Given the description of an element on the screen output the (x, y) to click on. 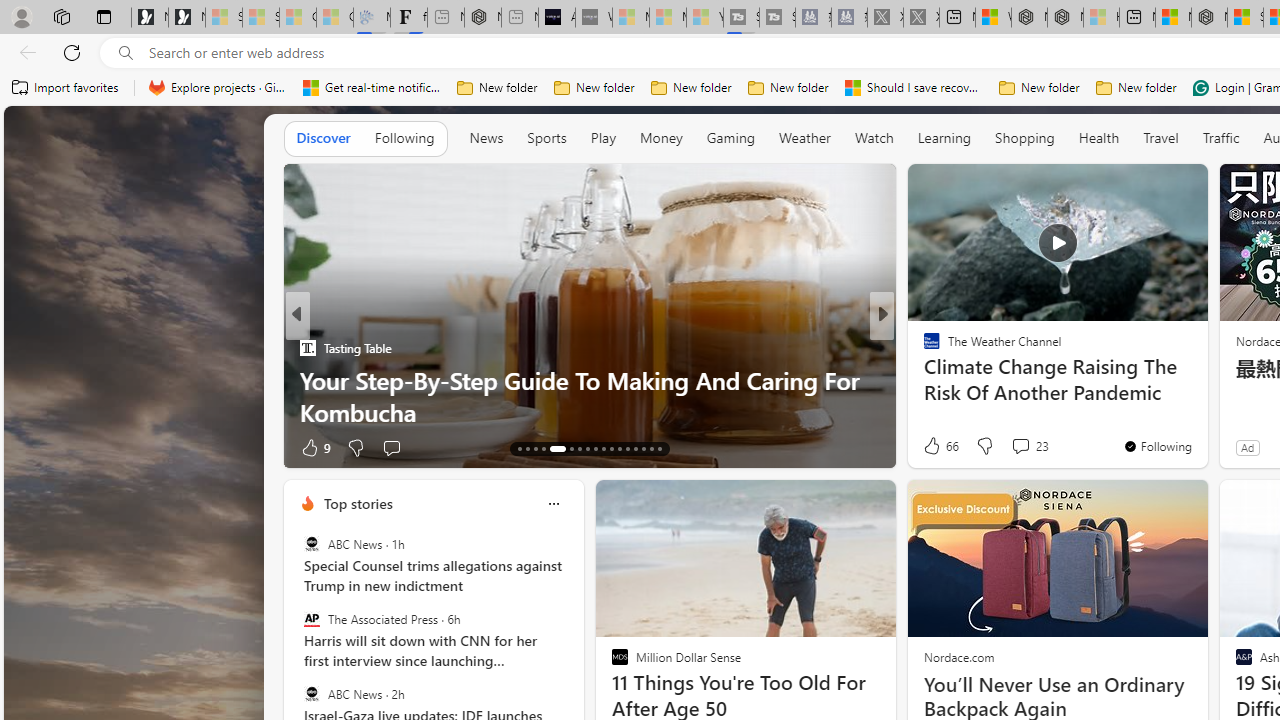
Hide this story (1147, 187)
AutomationID: tab-25 (627, 448)
View comments 23 Comment (1019, 445)
View comments 2 Comment (1014, 447)
AutomationID: tab-24 (619, 448)
View comments 190 Comment (1032, 447)
AutomationID: tab-52 (659, 448)
